Given the description of an element on the screen output the (x, y) to click on. 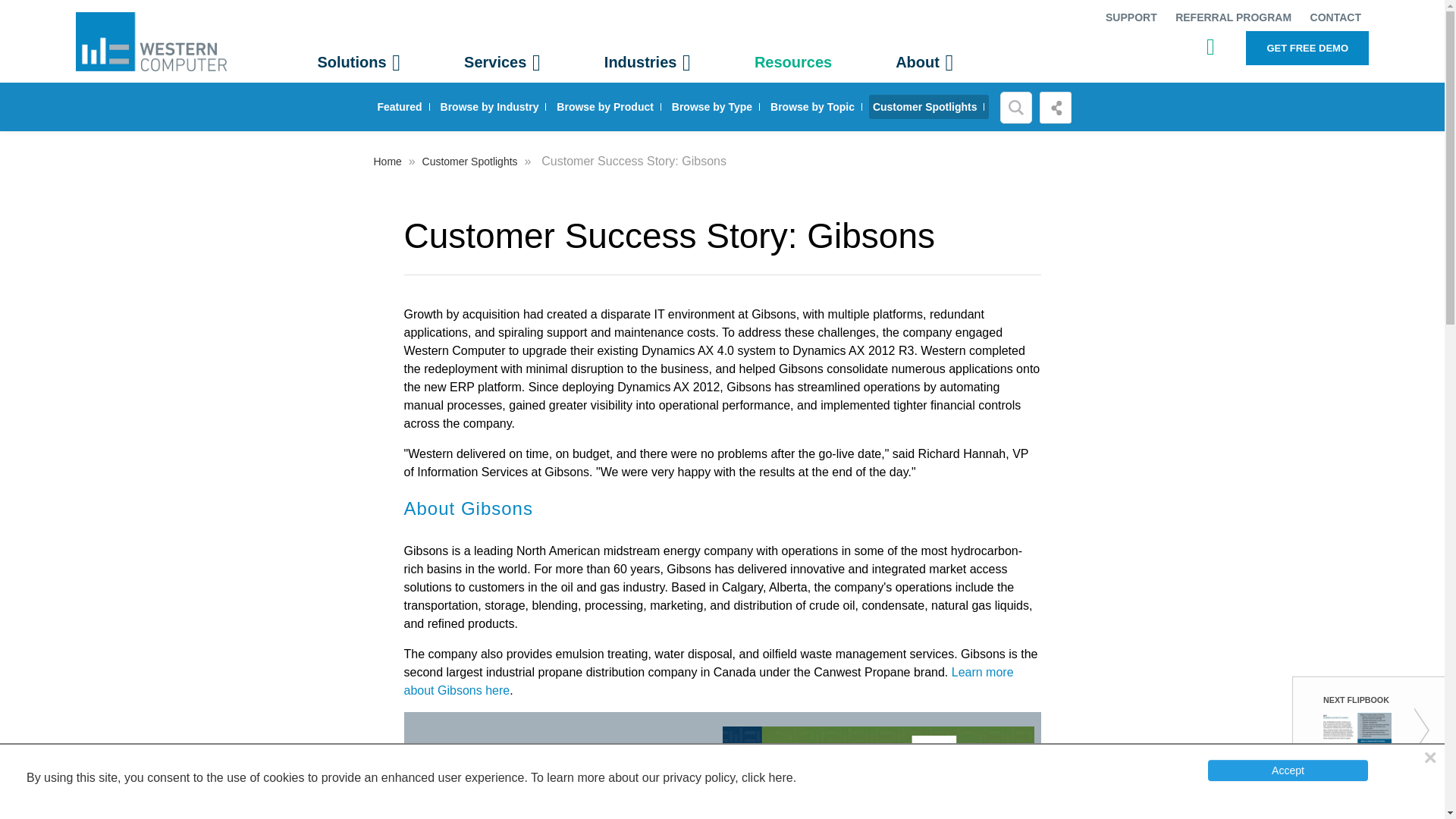
Services (501, 61)
Industries (646, 61)
Western Computer (151, 41)
Solutions (358, 61)
